Given the description of an element on the screen output the (x, y) to click on. 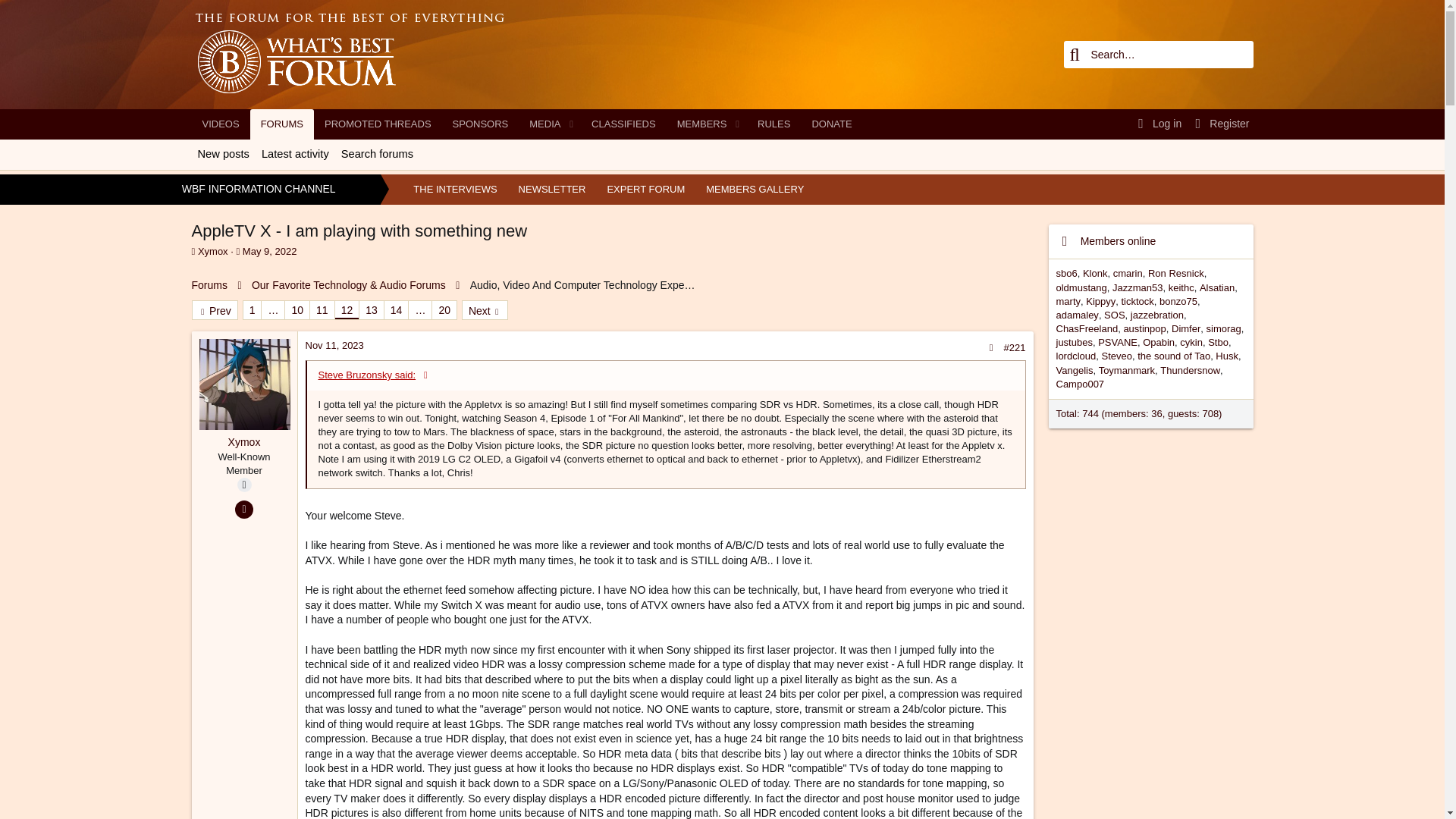
Log in (1156, 123)
CLASSIFIEDS (623, 123)
VIDEOS (219, 123)
PROMOTED THREADS (378, 123)
RULES (608, 206)
Thread starter (773, 123)
Register (192, 251)
May 9, 2022 at 1:45 AM (304, 171)
Nov 11, 2023 at 4:23 PM (1218, 123)
MEMBERS (270, 251)
SPONSORS (333, 345)
Start date (697, 123)
